Given the description of an element on the screen output the (x, y) to click on. 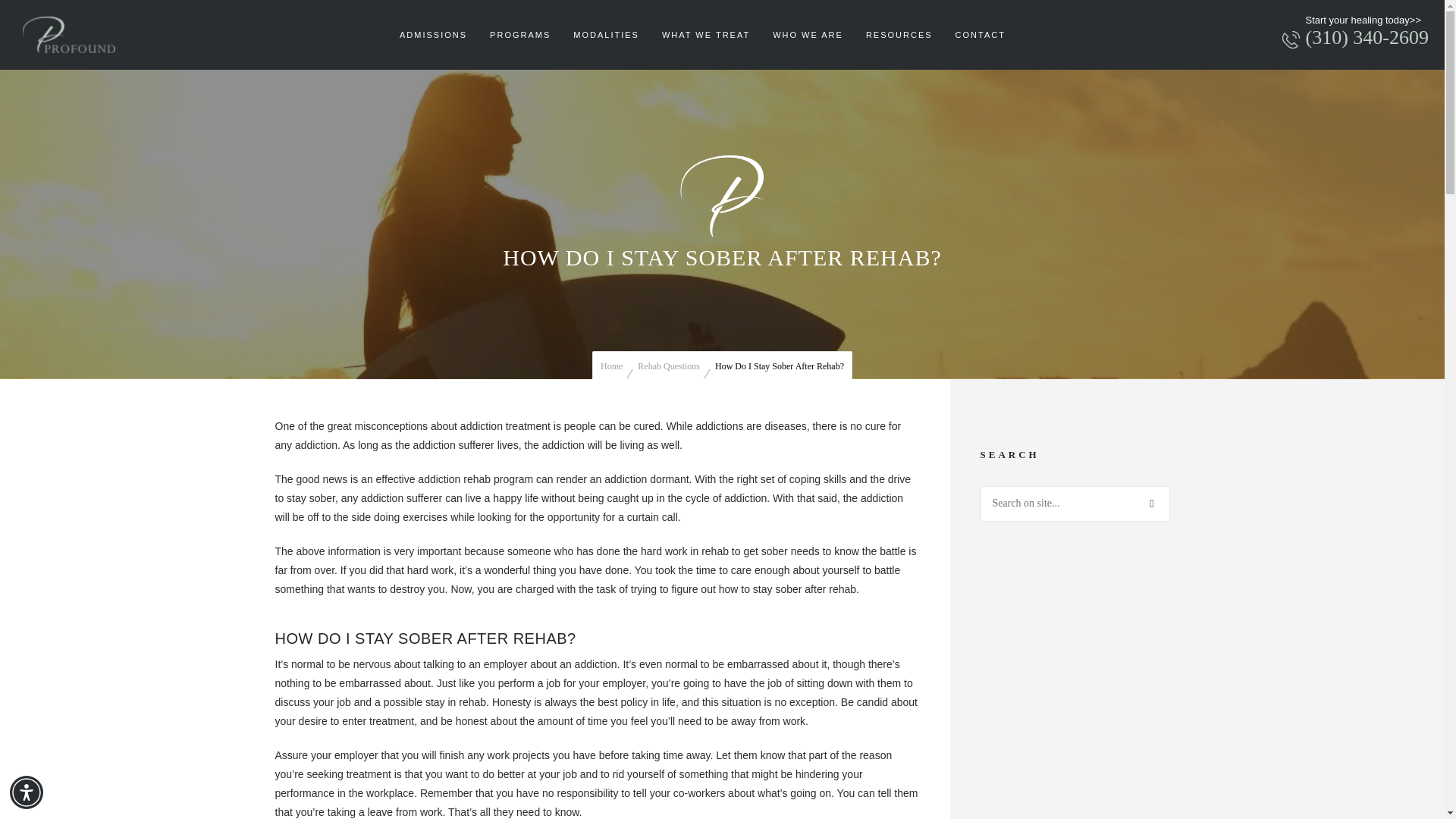
Search (1152, 503)
PROGRAMS (520, 34)
MODALITIES (606, 34)
ADMISSIONS (433, 34)
Accessibility Menu (26, 792)
